Given the description of an element on the screen output the (x, y) to click on. 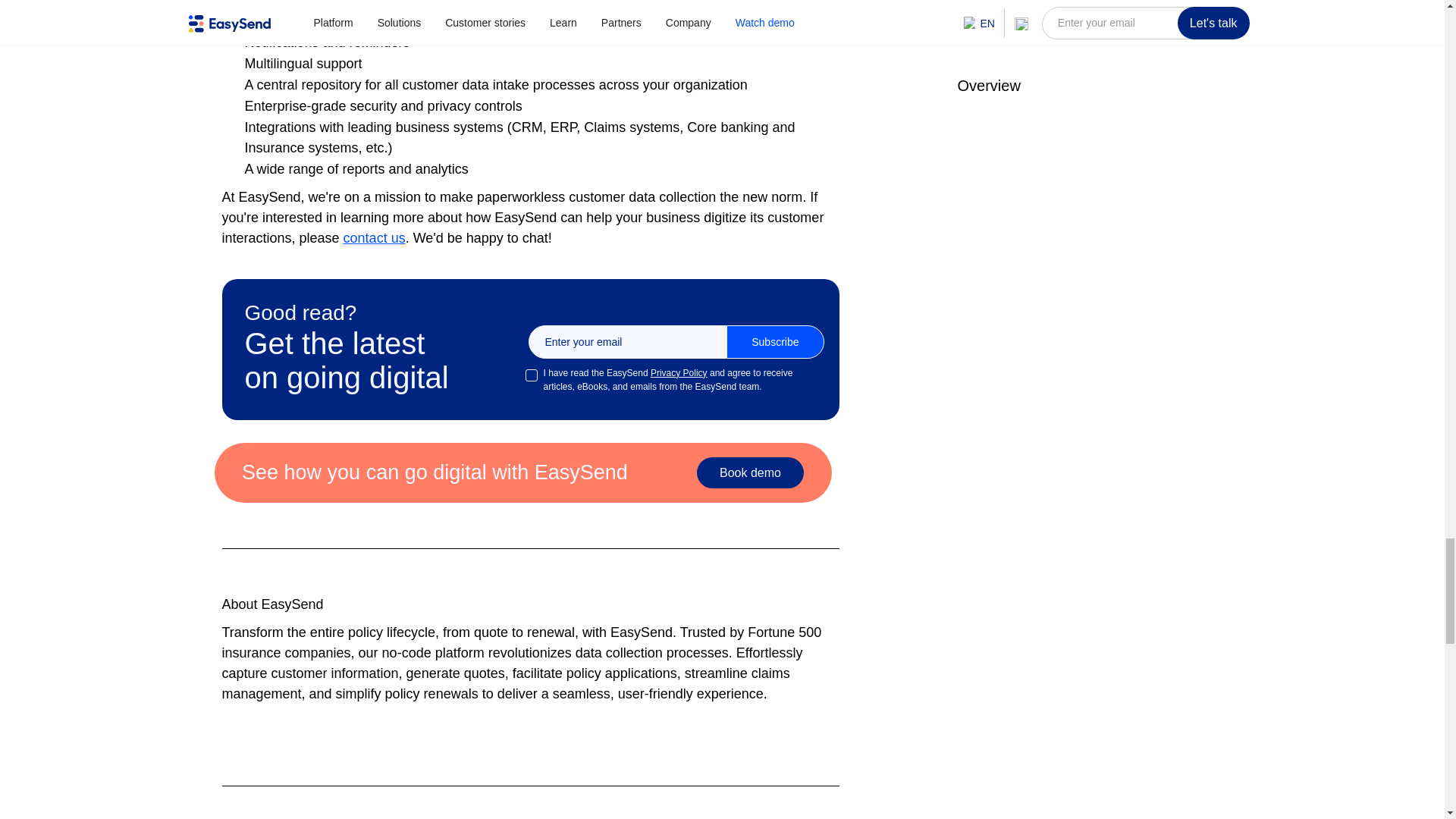
Subscribe (775, 341)
